Given the description of an element on the screen output the (x, y) to click on. 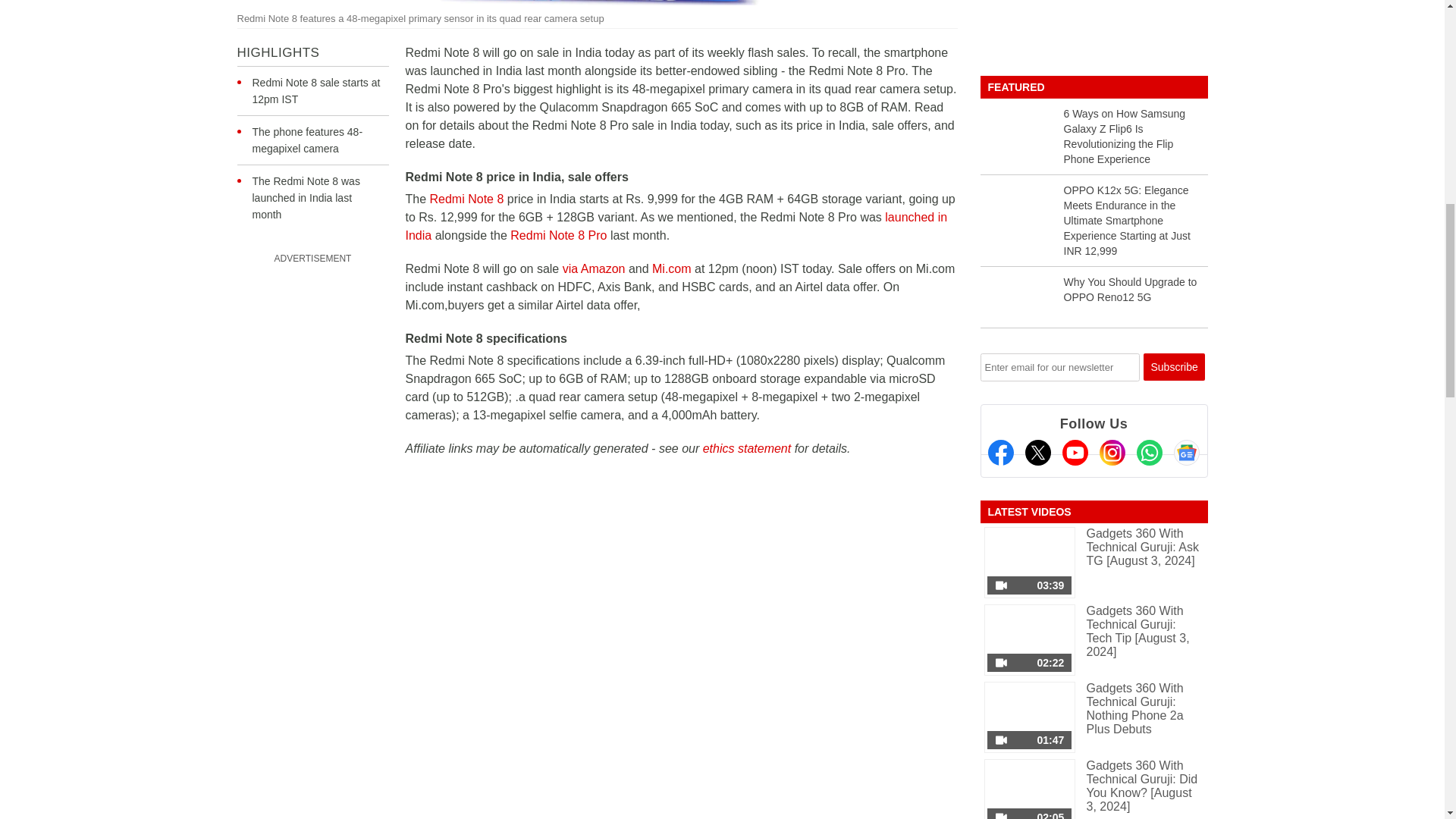
Subscribe (1173, 366)
